Given the description of an element on the screen output the (x, y) to click on. 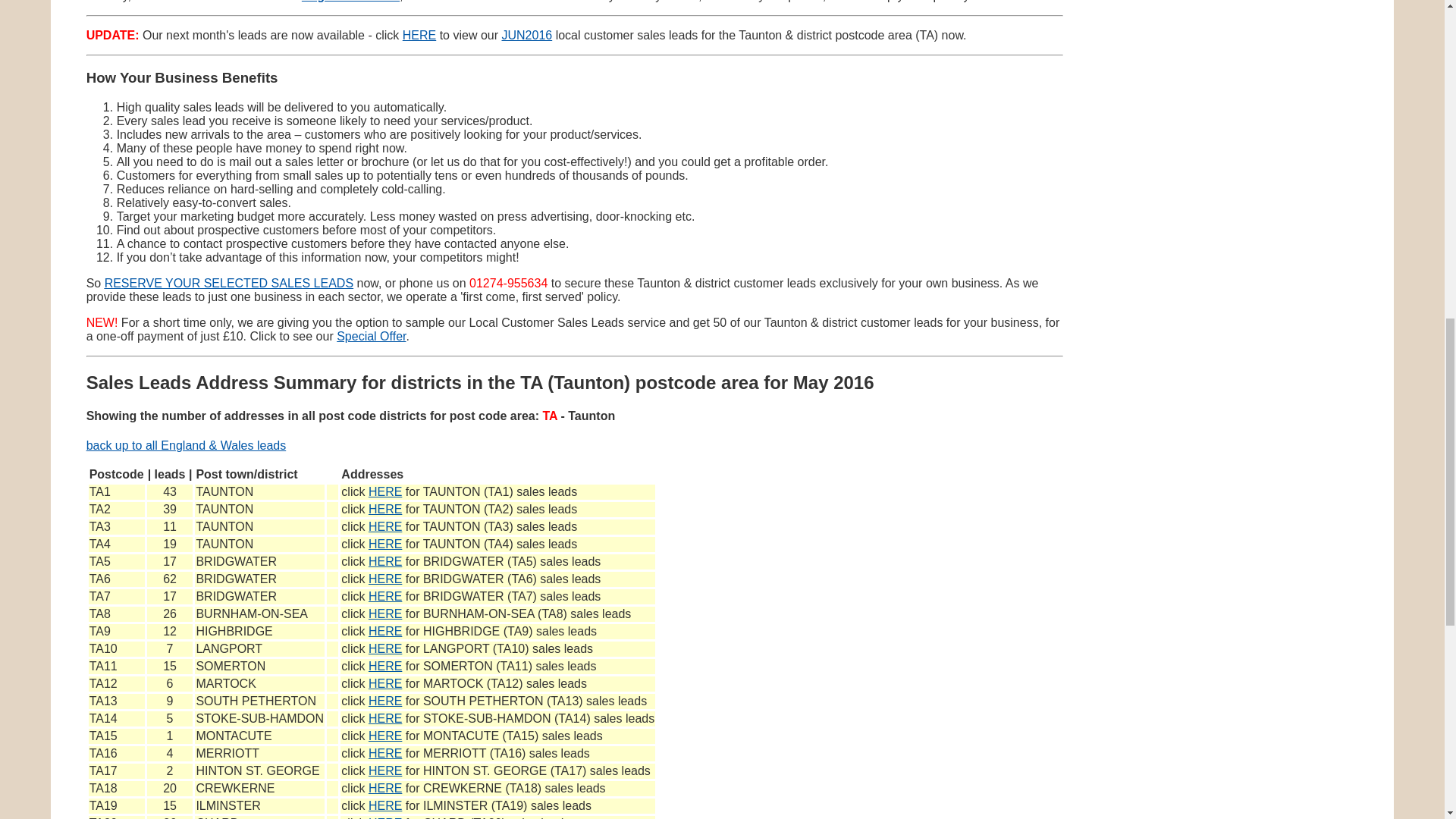
HERE (384, 753)
HERE (384, 683)
customer sales leads in LANGPORT - TA10 (384, 648)
customer sales leads in BRIDGWATER - TA5 (384, 561)
customer sales leads in MARTOCK - TA12 (384, 683)
customer sales leads in HIGHBRIDGE - TA9 (384, 631)
HERE (384, 595)
customer sales leads in BRIDGWATER - TA7 (384, 595)
RESERVE YOUR SELECTED SALES LEADS (228, 282)
Special Offer (371, 336)
HERE (384, 561)
HERE (384, 817)
HERE (384, 508)
HERE (384, 526)
customer sales leads in STOKE-SUB-HAMDON - TA14 (384, 717)
